Given the description of an element on the screen output the (x, y) to click on. 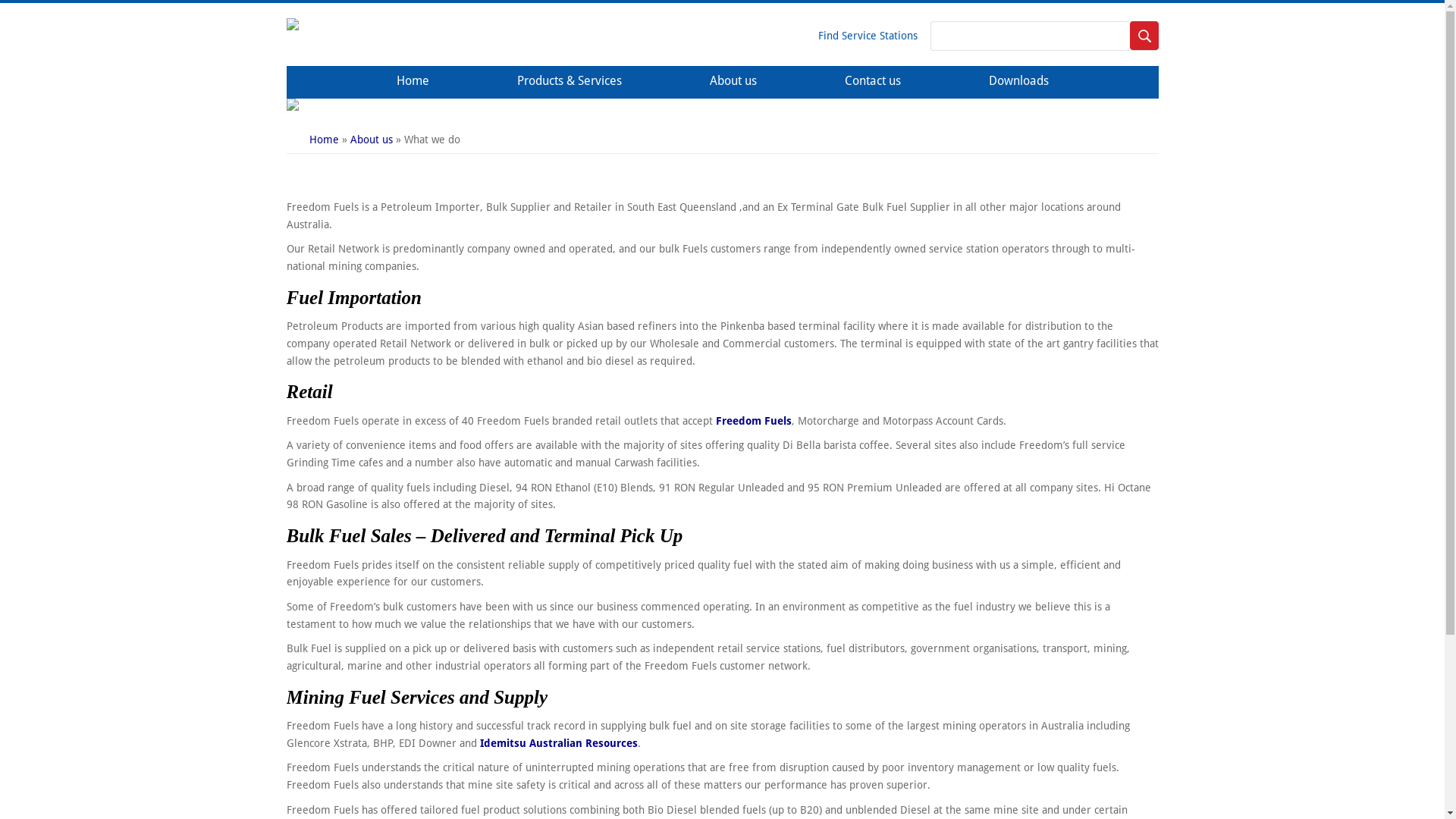
Products & Services Element type: text (569, 81)
Contact us Element type: text (872, 81)
Search Element type: text (1143, 36)
Home Element type: hover (299, 26)
Downloads Element type: text (1018, 81)
About us Element type: text (371, 139)
Idemitsu Australian Resources Element type: text (558, 743)
Home Element type: text (412, 81)
Enter the terms you wish to search for. Element type: hover (1042, 35)
Freedom Fuels Element type: text (753, 420)
Home Element type: text (323, 139)
About us Element type: text (733, 81)
